Given the description of an element on the screen output the (x, y) to click on. 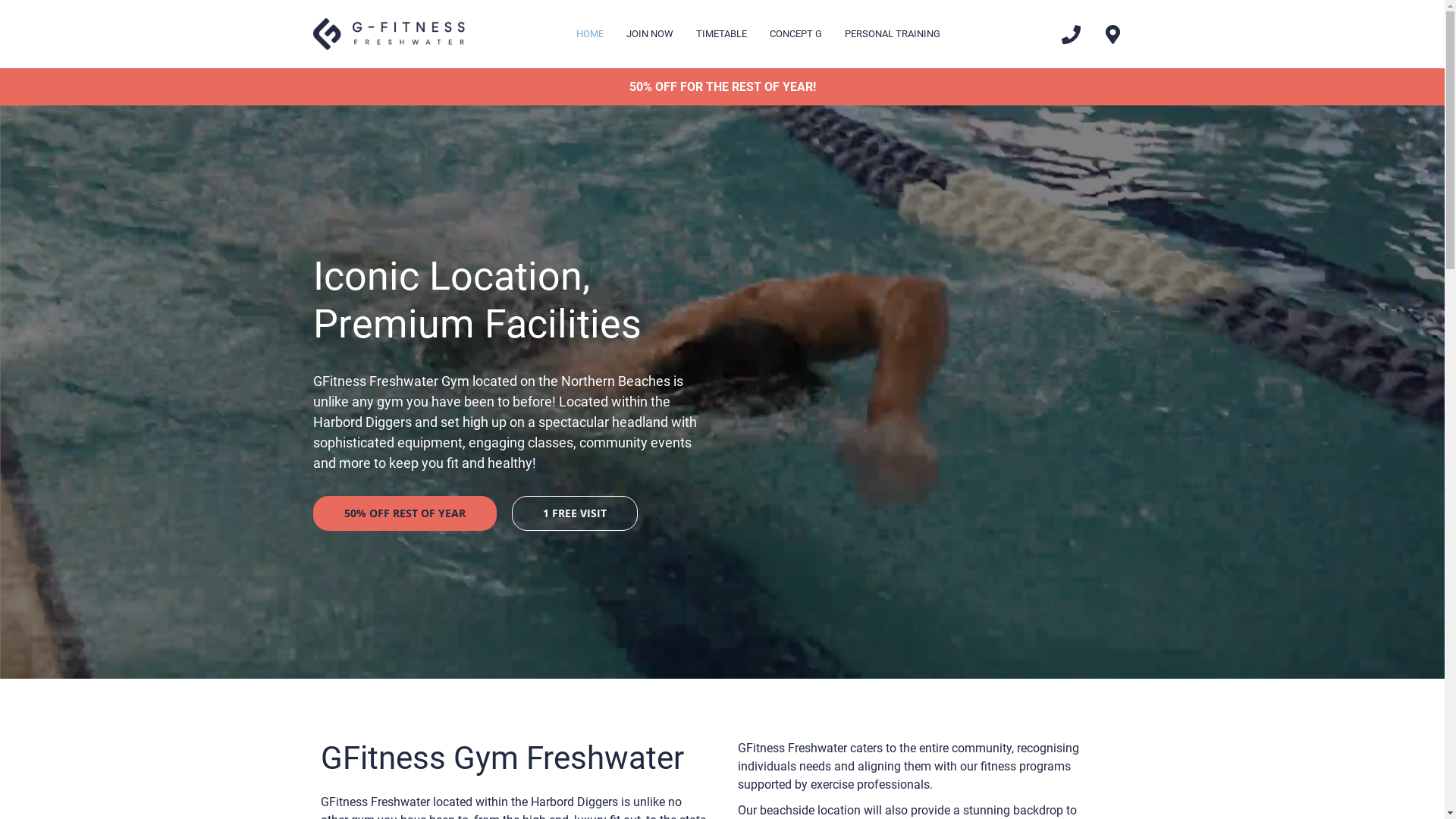
50% OFF REST OF YEAR Element type: text (403, 512)
Group 3674 Element type: hover (388, 34)
50% OFF FOR THE REST OF YEAR! Element type: text (721, 86)
CONCEPT G Element type: text (795, 33)
TIMETABLE Element type: text (721, 33)
1 FREE VISIT Element type: text (574, 512)
HOME Element type: text (589, 33)
PERSONAL TRAINING Element type: text (892, 33)
JOIN NOW Element type: text (649, 33)
